Given the description of an element on the screen output the (x, y) to click on. 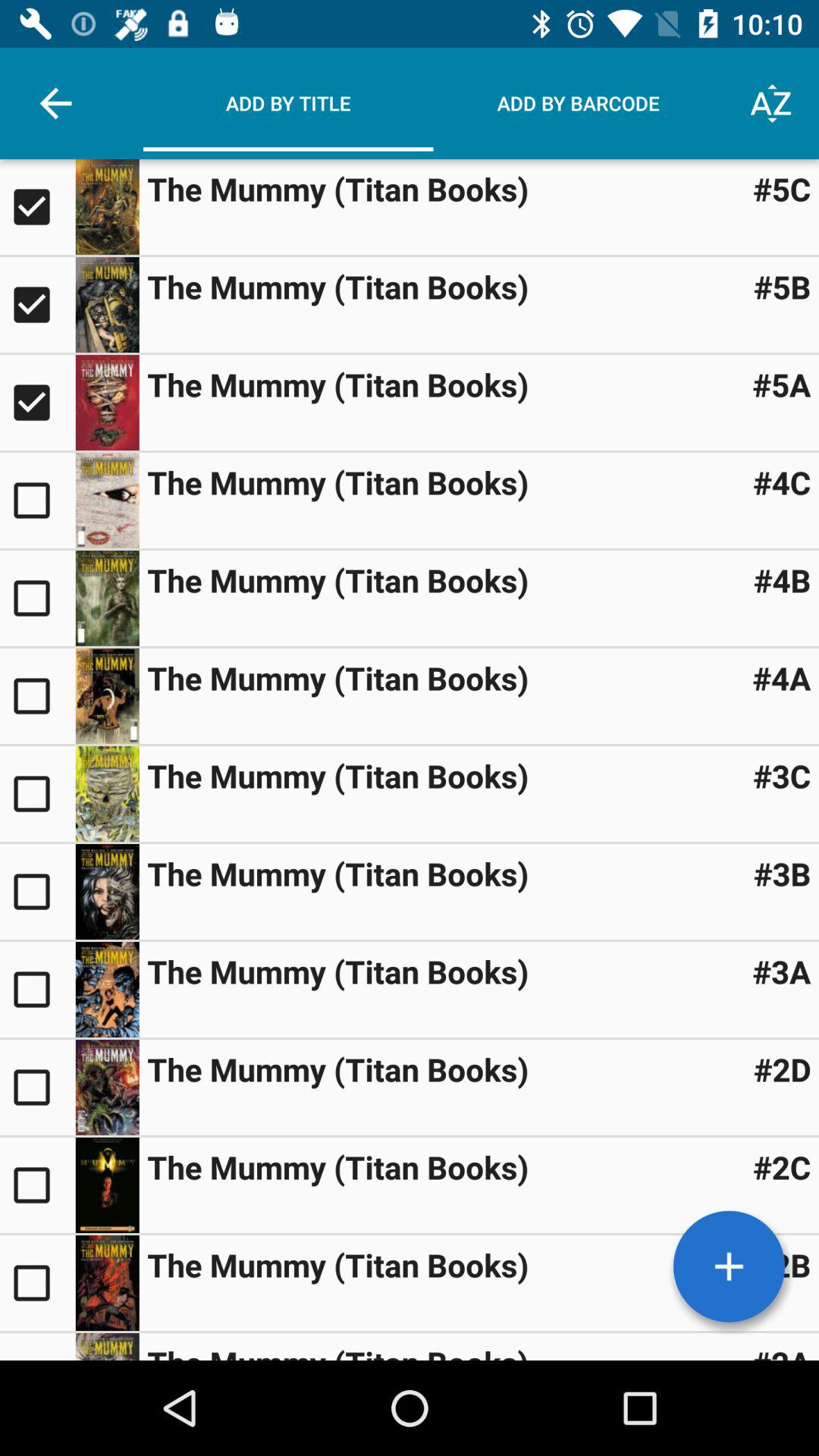
show more information for item (107, 598)
